Given the description of an element on the screen output the (x, y) to click on. 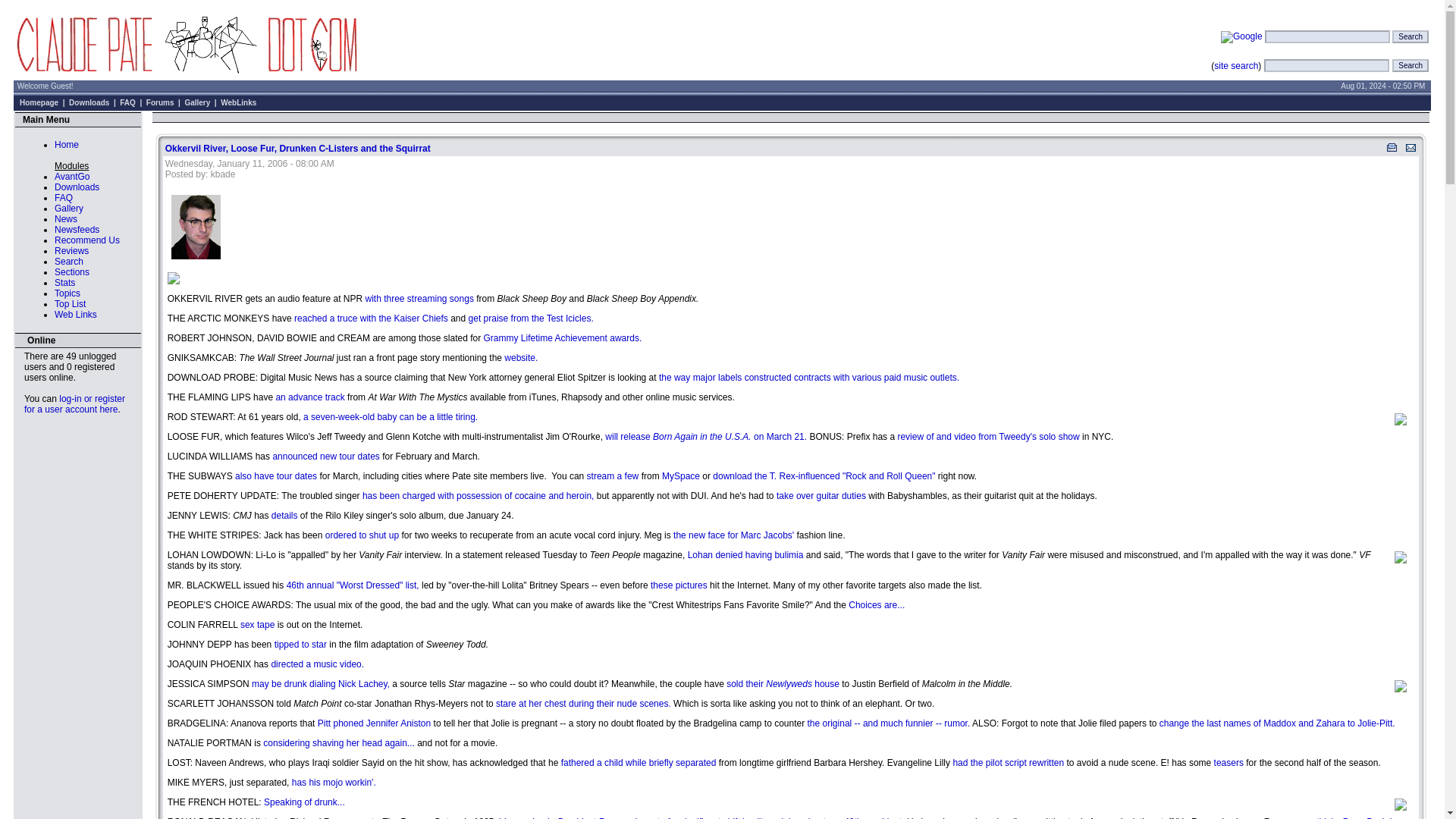
FAQ (63, 197)
Links to other sites.. (76, 314)
Search (1409, 65)
website. (520, 357)
Search (1409, 36)
Stories formatted for PDAs.. (71, 176)
Photo Gallery.. (68, 208)
Latest News on this site.. (66, 218)
Search (68, 261)
Reviews (71, 250)
Find downloads listed on this website.. (77, 186)
WebLinks (238, 102)
Reviews Section on this website.. (71, 250)
Gallery (196, 102)
